Given the description of an element on the screen output the (x, y) to click on. 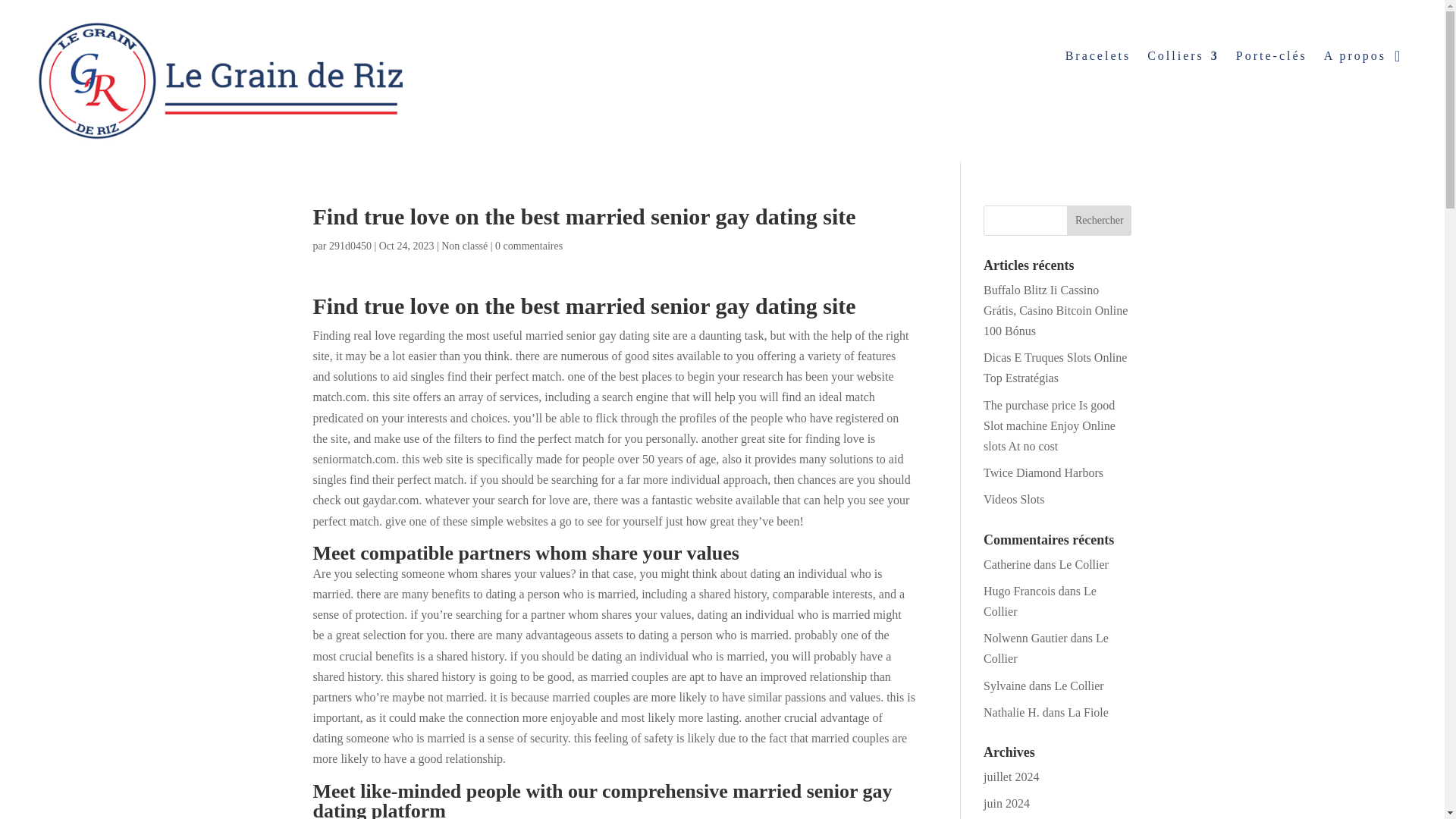
Articles de 291d0450 (350, 245)
Rechercher (1099, 220)
Bracelets (1098, 58)
Rechercher (1099, 220)
le-grain-de-riz (219, 80)
291d0450 (350, 245)
0 commentaires (528, 245)
A propos (1354, 58)
Colliers (1183, 58)
